Given the description of an element on the screen output the (x, y) to click on. 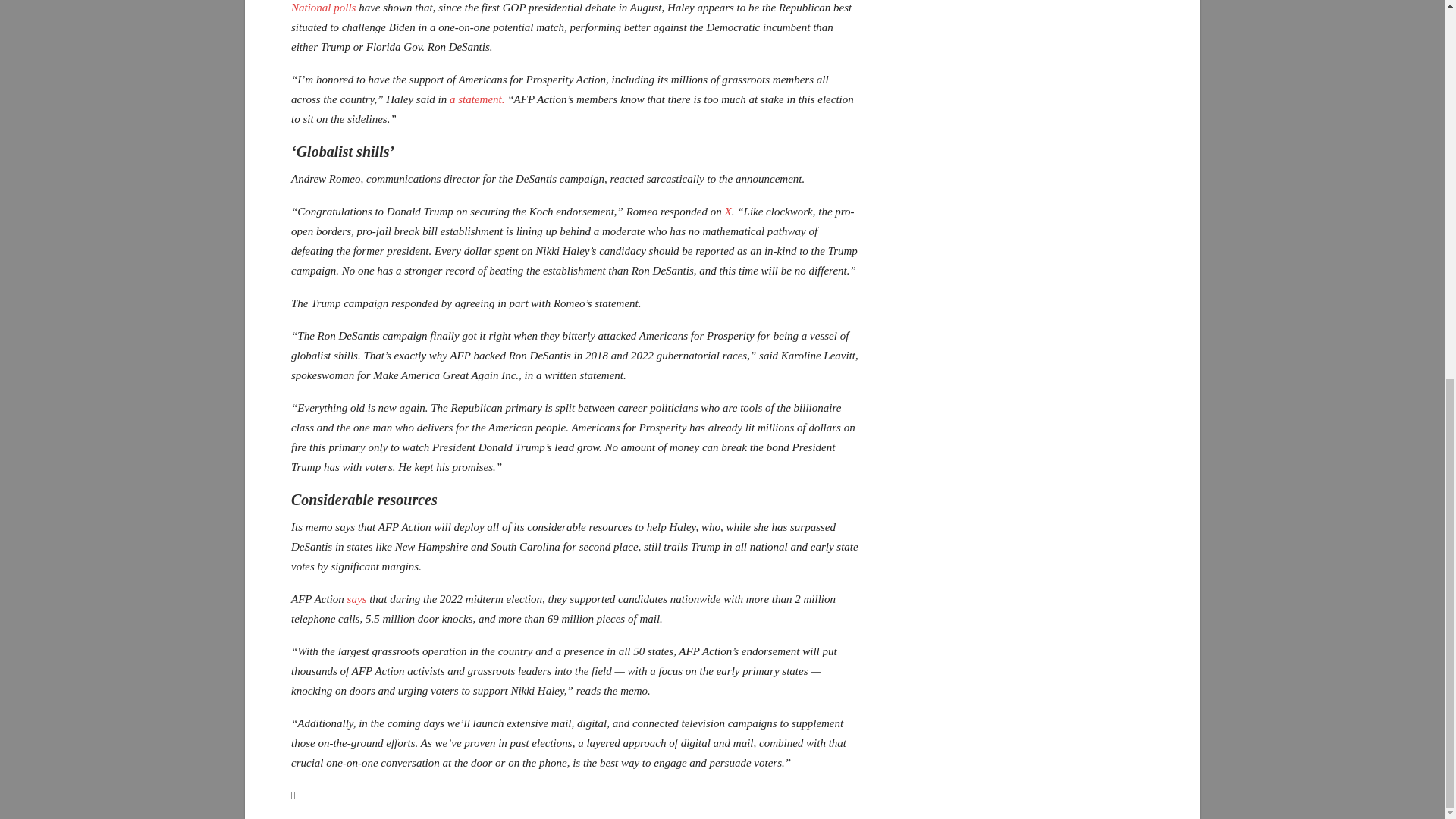
National polls (323, 7)
says (356, 598)
a statement. (474, 99)
